Given the description of an element on the screen output the (x, y) to click on. 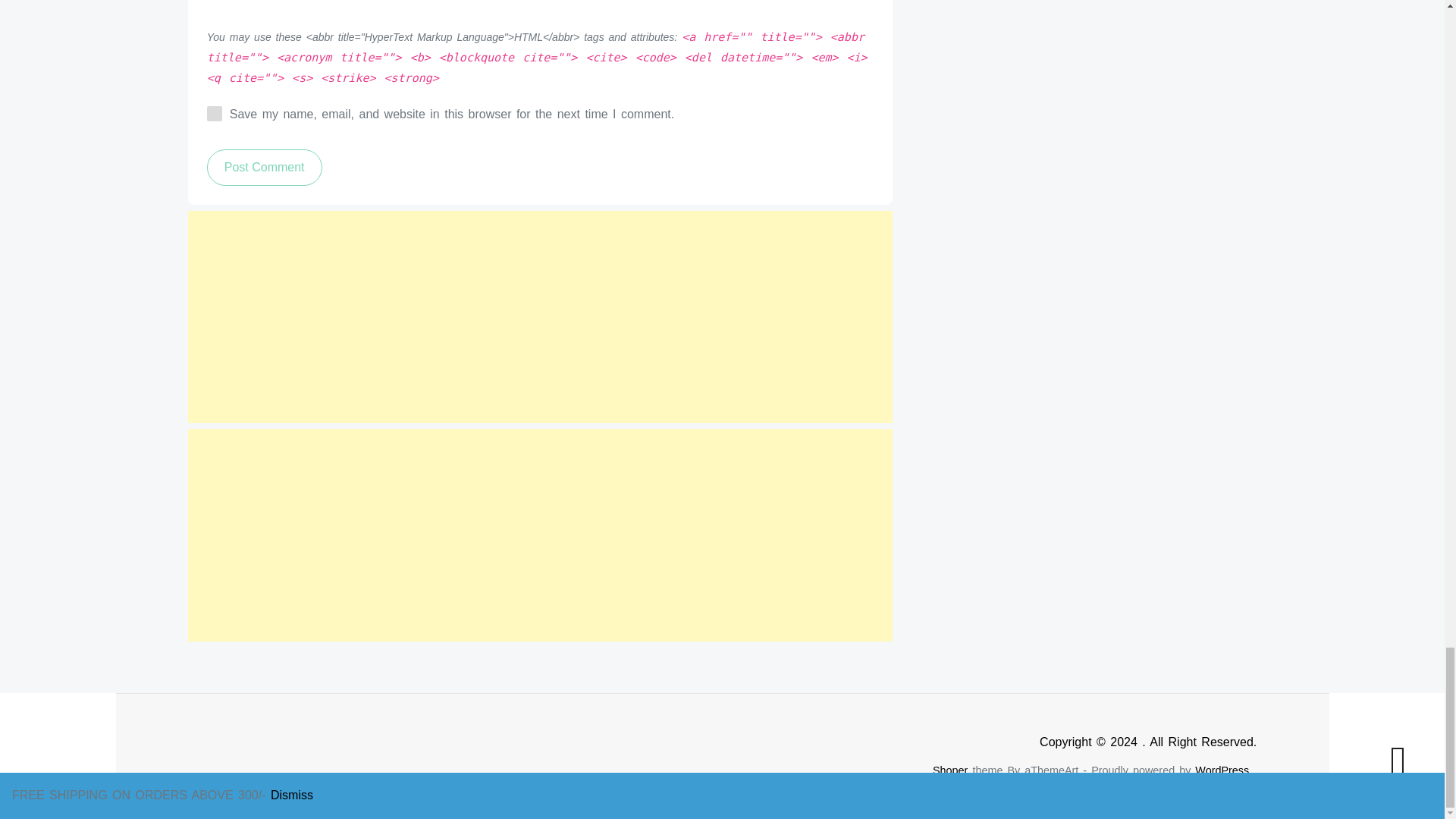
yes (214, 113)
